Given the description of an element on the screen output the (x, y) to click on. 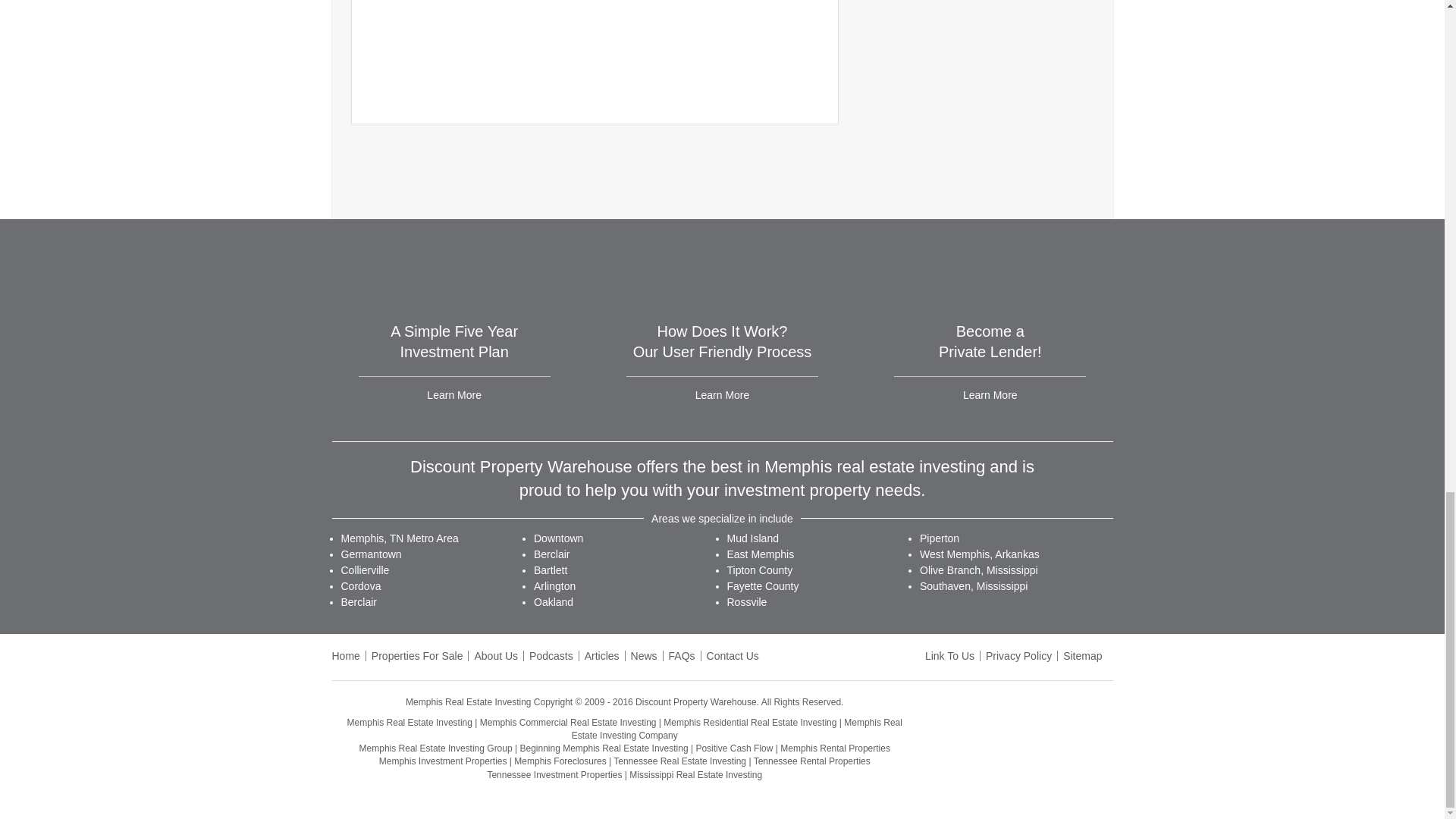
Articles (602, 655)
Memphis Residential Real Estate Investing (749, 722)
Contact Us (732, 655)
Memphis Commercial Real Estate Investing (568, 722)
About Us (496, 655)
Learn More (453, 395)
A Simple Five Year Investment Plan (454, 341)
Learn More (989, 395)
Home (345, 655)
